Given the description of an element on the screen output the (x, y) to click on. 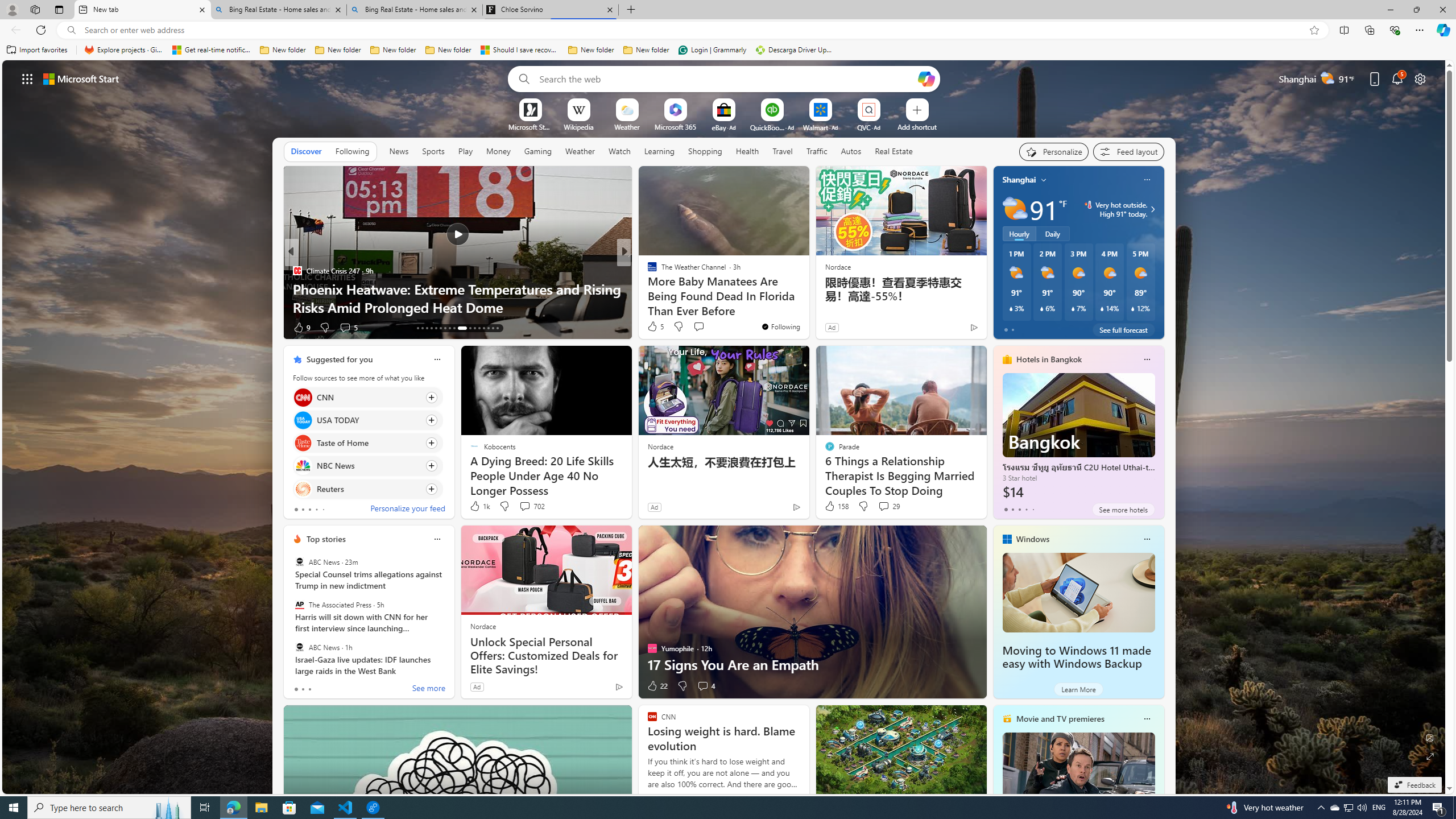
Import favorites (36, 49)
View comments 2 Comment (702, 327)
Add a site (916, 126)
Movie and TV premieres (1060, 718)
Login | Grammarly (712, 49)
AutomationID: tab-20 (449, 328)
12 YouTube Features You'll Kick Yourself For Not Using (807, 298)
Partly sunny (1014, 208)
